Given the description of an element on the screen output the (x, y) to click on. 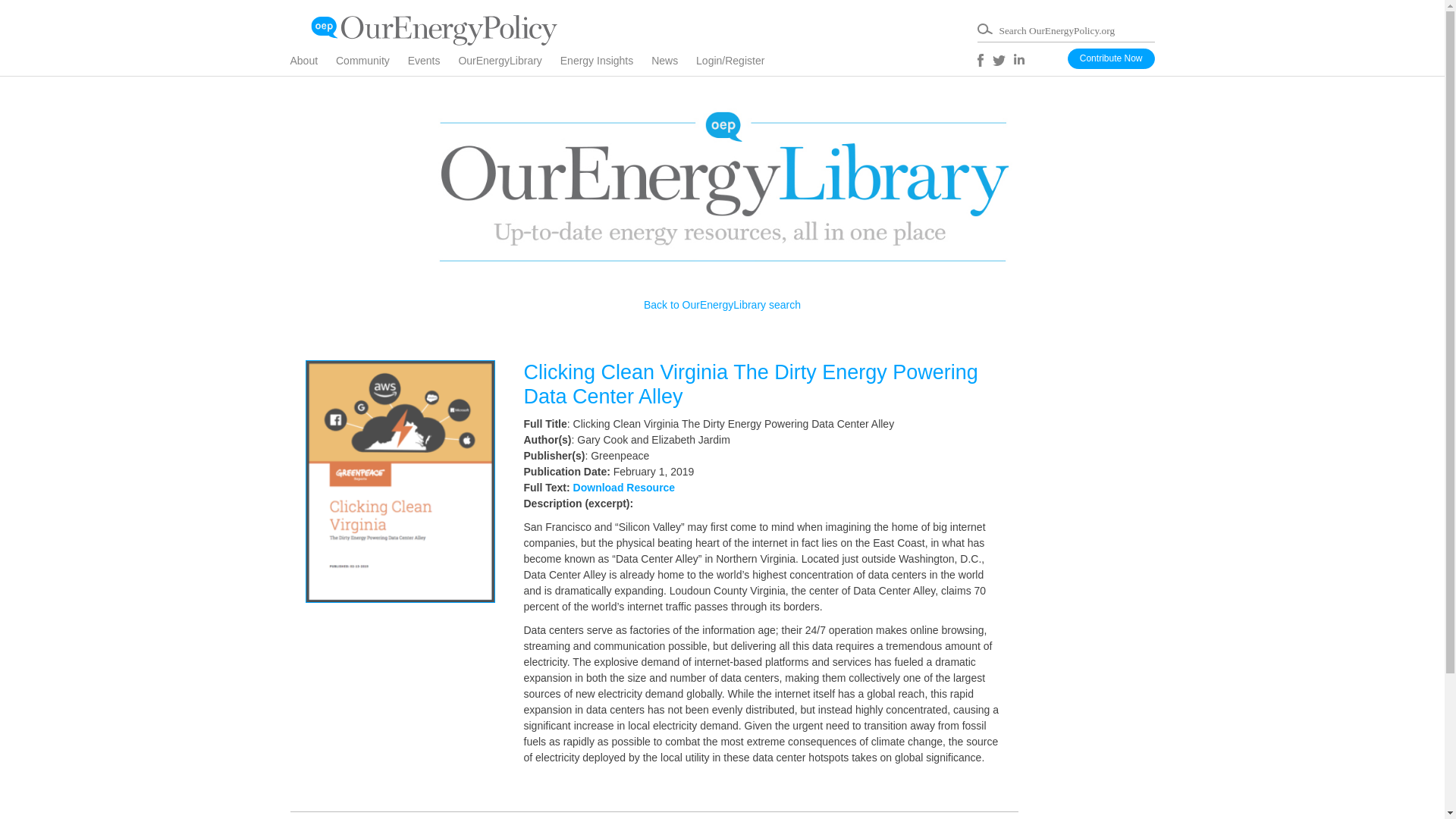
News (671, 65)
OurEnergyLibrary (507, 65)
Community (370, 65)
Events (431, 65)
Download Resource (624, 487)
Back to OurEnergyLibrary search (721, 304)
About (311, 65)
Energy Insights (604, 65)
Contribute Now (1110, 58)
